Given the description of an element on the screen output the (x, y) to click on. 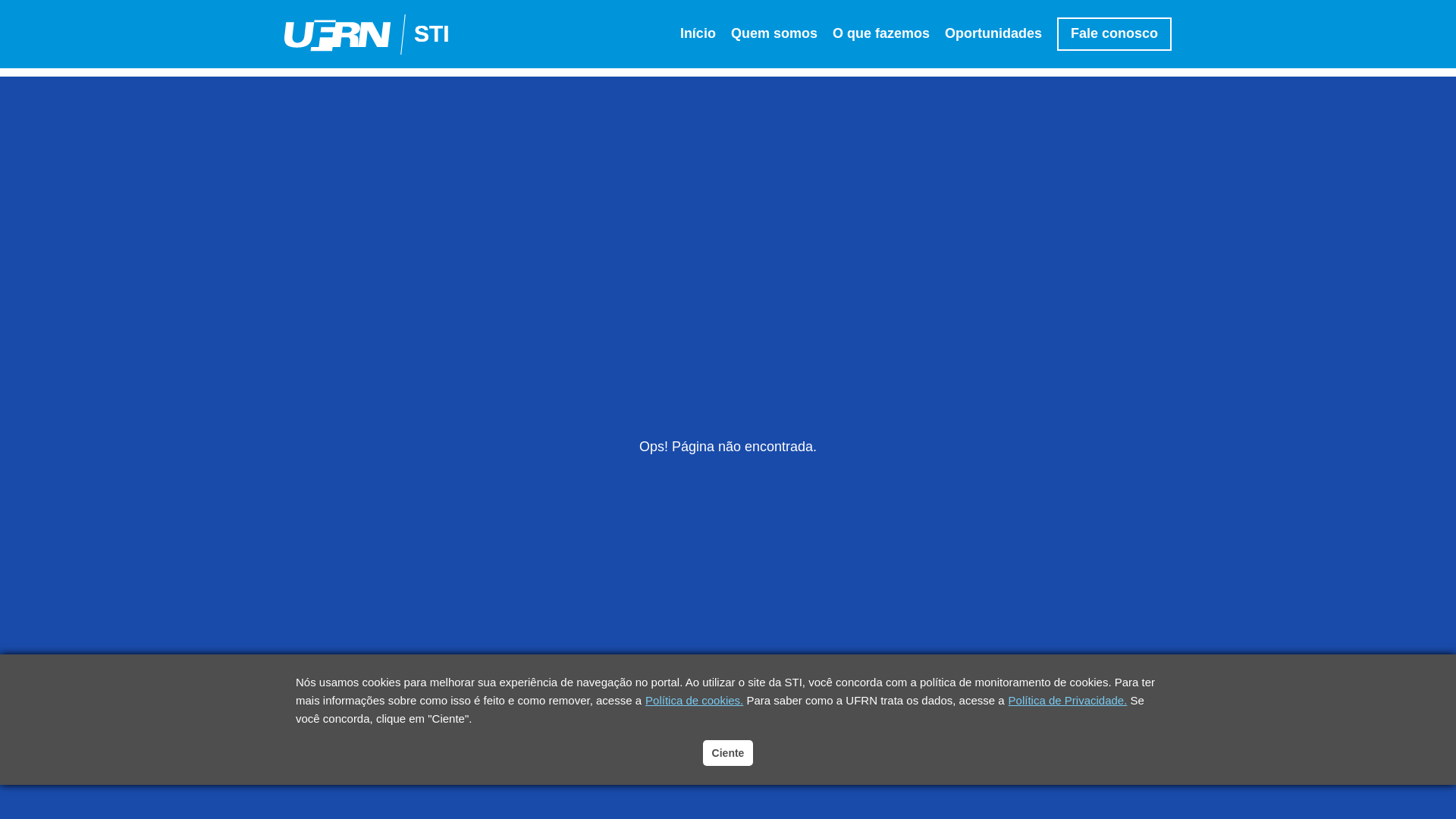
Ciente Element type: text (727, 752)
Fale conosco Element type: text (1114, 33)
O que fazemos Element type: text (880, 33)
Quem somos Element type: text (774, 33)
Oportunidades Element type: text (992, 33)
